Given the description of an element on the screen output the (x, y) to click on. 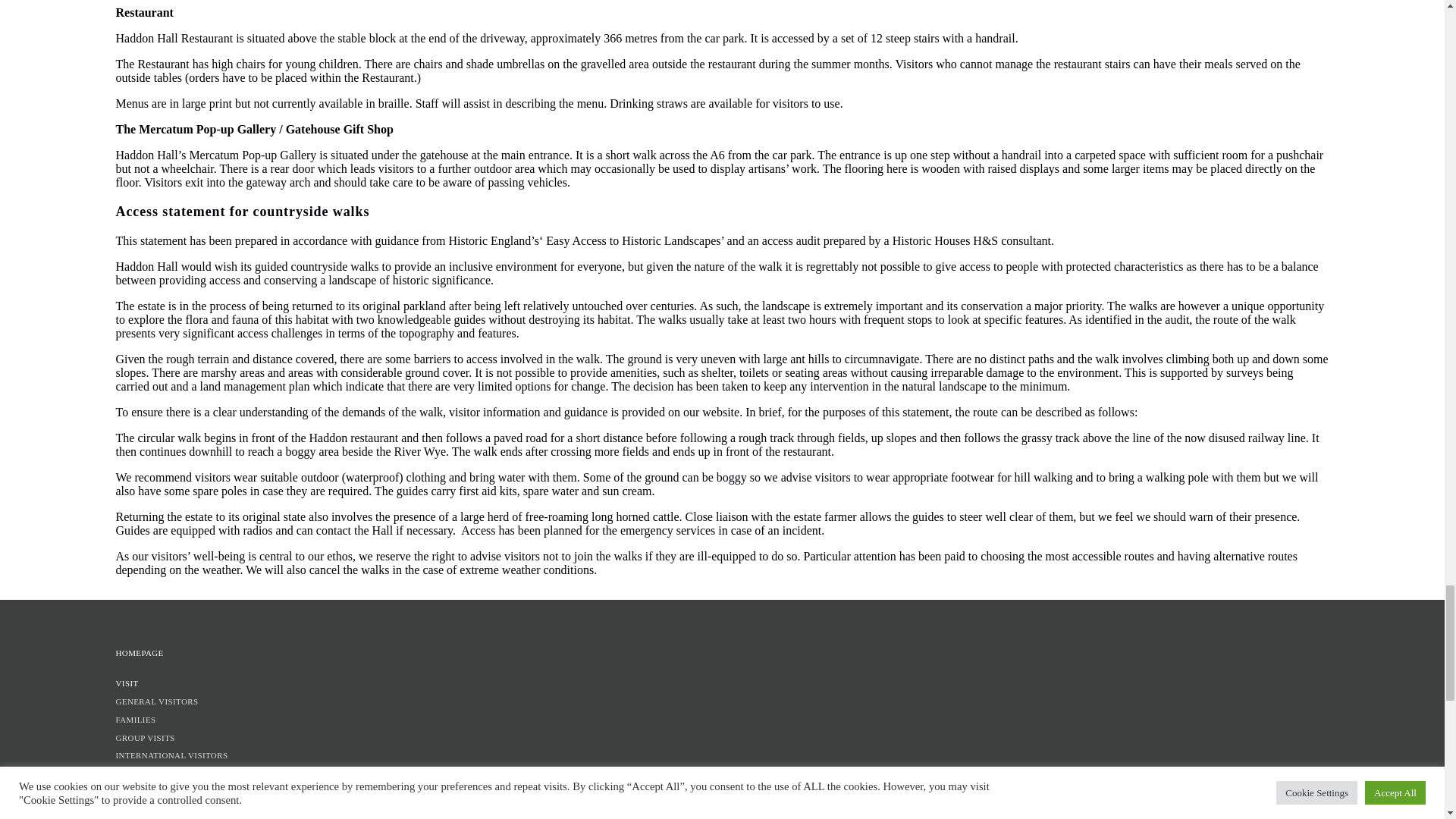
GENERAL VISITORS (721, 702)
HOMEPAGE (721, 653)
VISIT (721, 683)
FAMILIES (721, 720)
INTERNATIONAL VISITORS (721, 755)
PRIVATE TOURS (721, 792)
GROUP VISITS (721, 738)
LEARNING (721, 774)
